Given the description of an element on the screen output the (x, y) to click on. 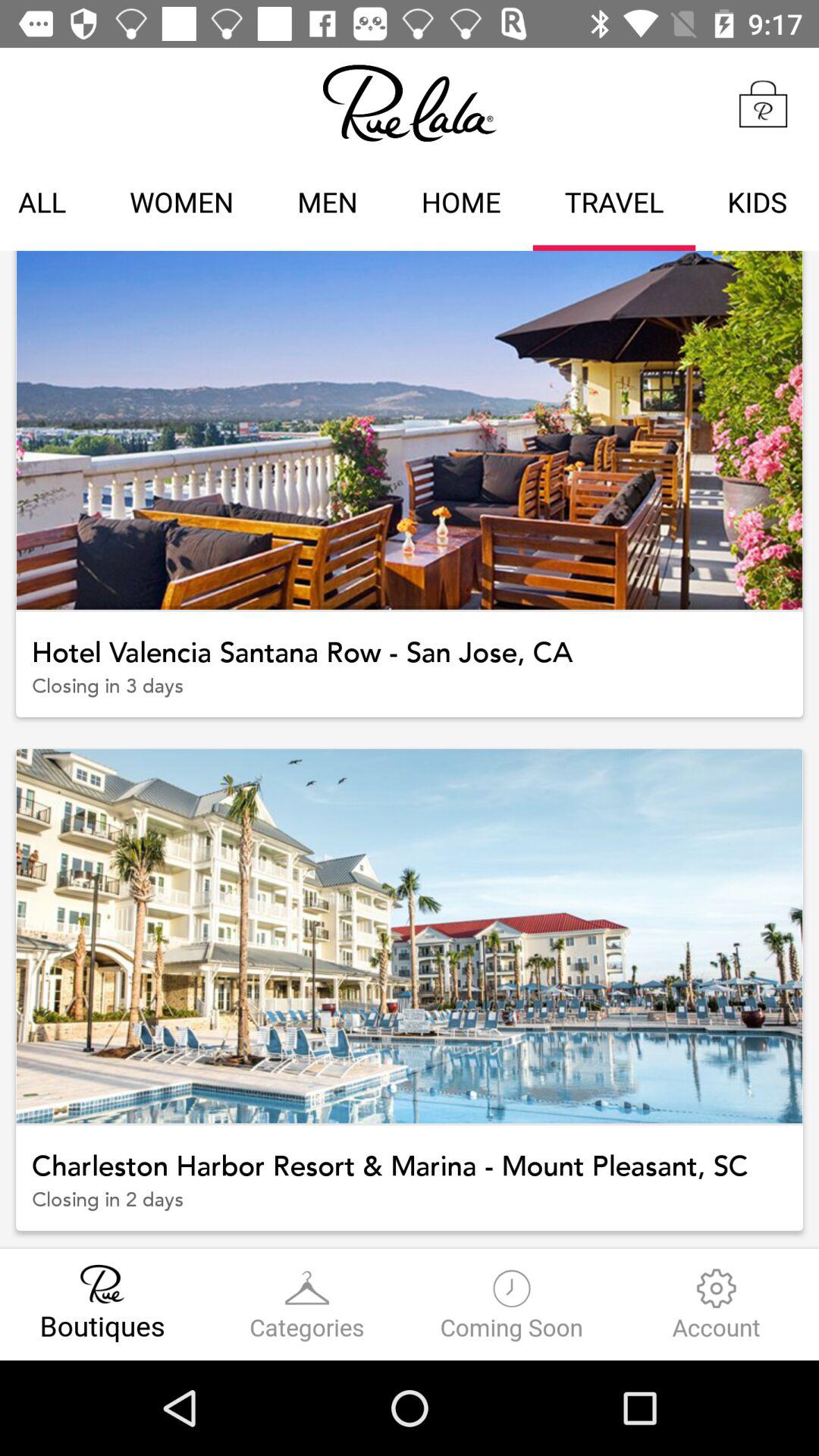
launch the icon to the right of home icon (613, 204)
